Given the description of an element on the screen output the (x, y) to click on. 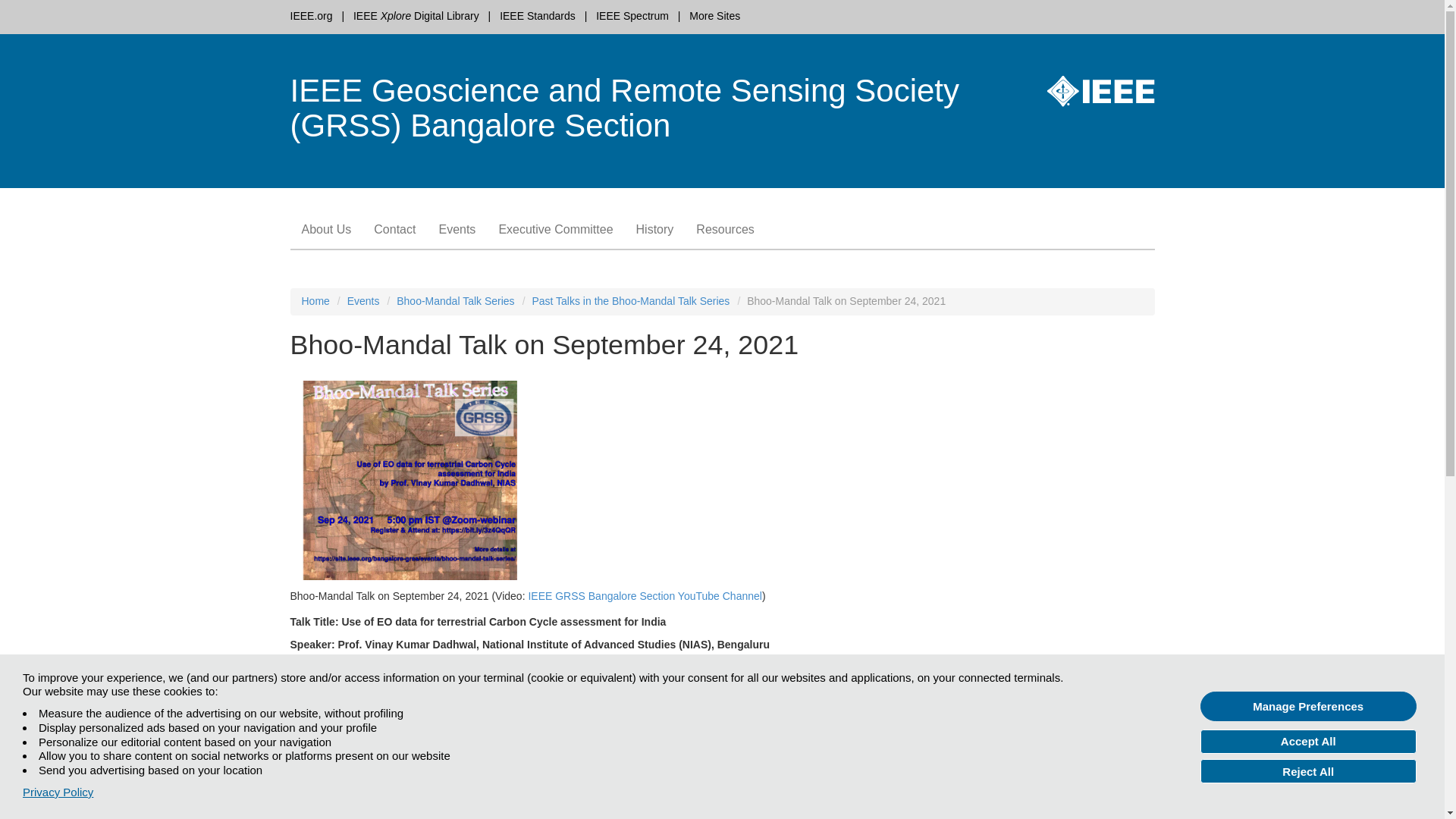
About Us (325, 229)
IEEE Spectrum (631, 15)
Events (456, 229)
Past Talks in the Bhoo-Mandal Talk Series (630, 300)
IEEE.org (310, 15)
Bhoo-Mandal Talk on September 24, 2021 (836, 301)
History (654, 229)
Accept All (1307, 741)
Bhoo-Mandal Talk Series (454, 300)
Events (363, 300)
